Given the description of an element on the screen output the (x, y) to click on. 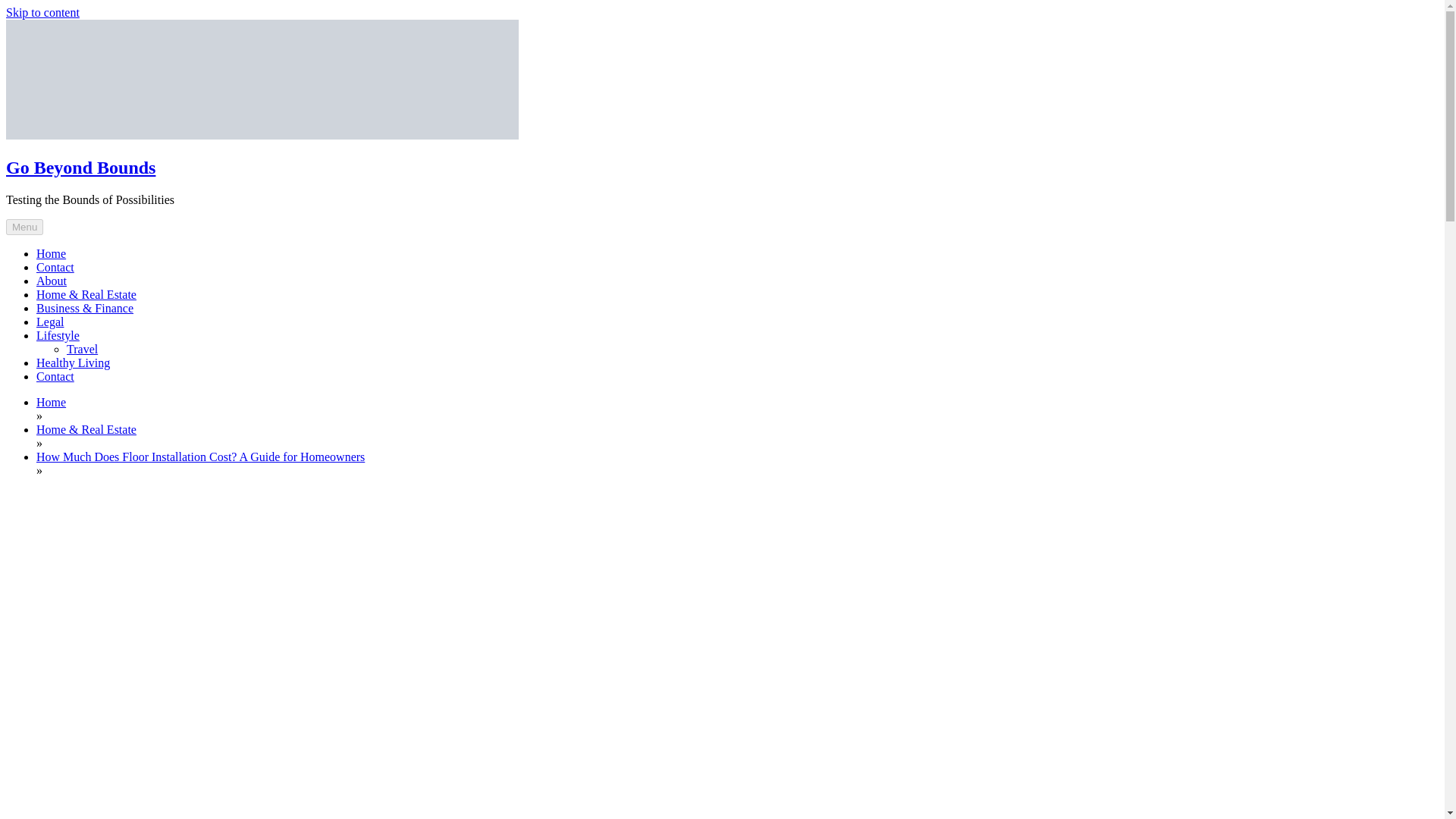
Contact (55, 267)
Healthy Living (73, 362)
Home (50, 253)
Lifestyle (58, 335)
Skip to content (42, 11)
Go Beyond Bounds (80, 167)
Legal (50, 321)
Travel (81, 349)
Menu (24, 227)
